Given the description of an element on the screen output the (x, y) to click on. 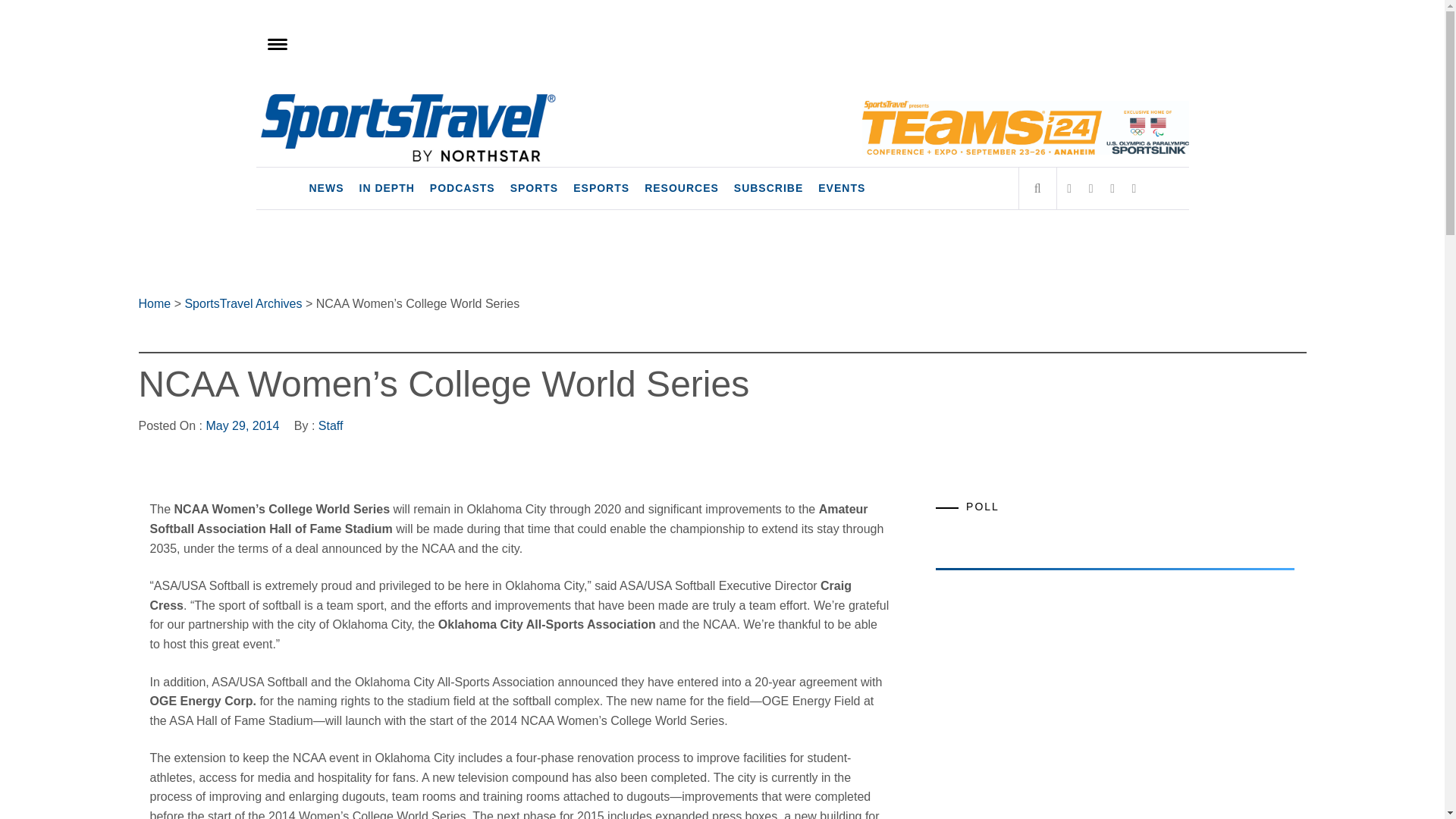
PODCASTS (462, 188)
SportsTravel (354, 108)
NEWS (326, 188)
SPORTS (534, 188)
RESOURCES (681, 188)
ESPORTS (601, 188)
IN DEPTH (387, 188)
